Given the description of an element on the screen output the (x, y) to click on. 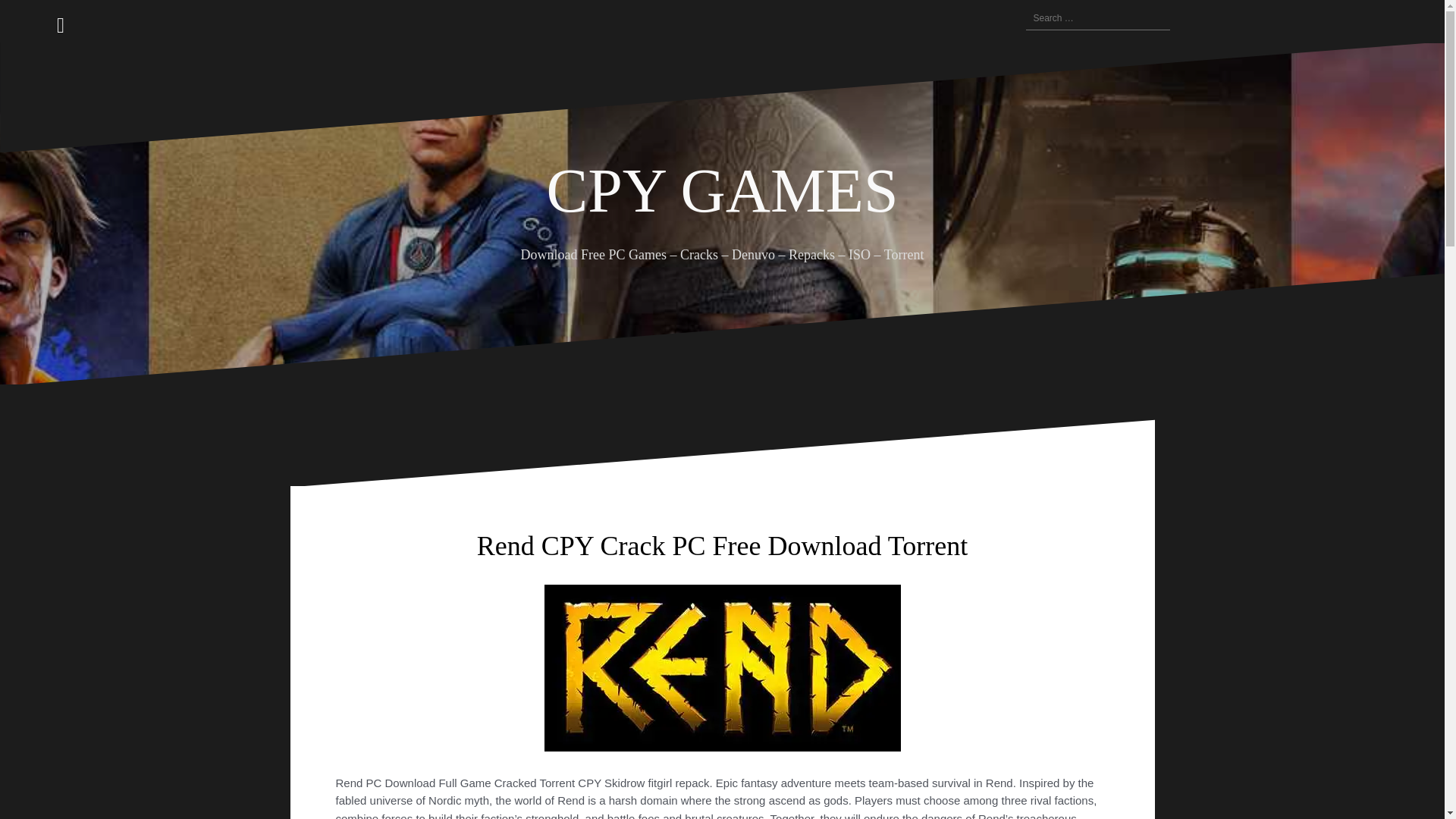
Search (30, 20)
CPY GAMES (722, 190)
